Given the description of an element on the screen output the (x, y) to click on. 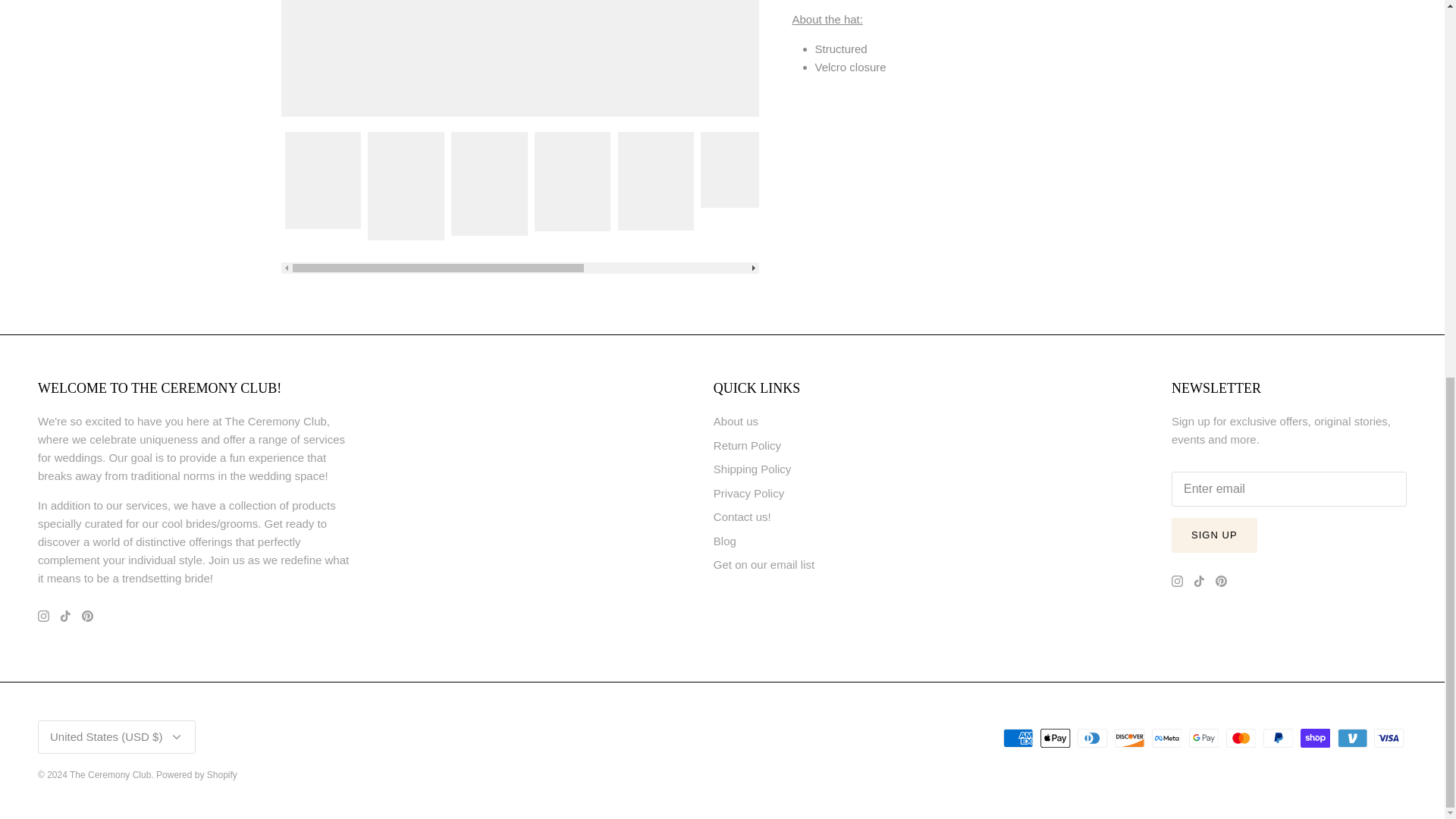
Pinterest (1221, 581)
Diners Club (1092, 737)
Pinterest (87, 615)
American Express (1018, 737)
Instagram (43, 615)
Apple Pay (1055, 737)
Instagram (1177, 581)
Discover (1129, 737)
